Given the description of an element on the screen output the (x, y) to click on. 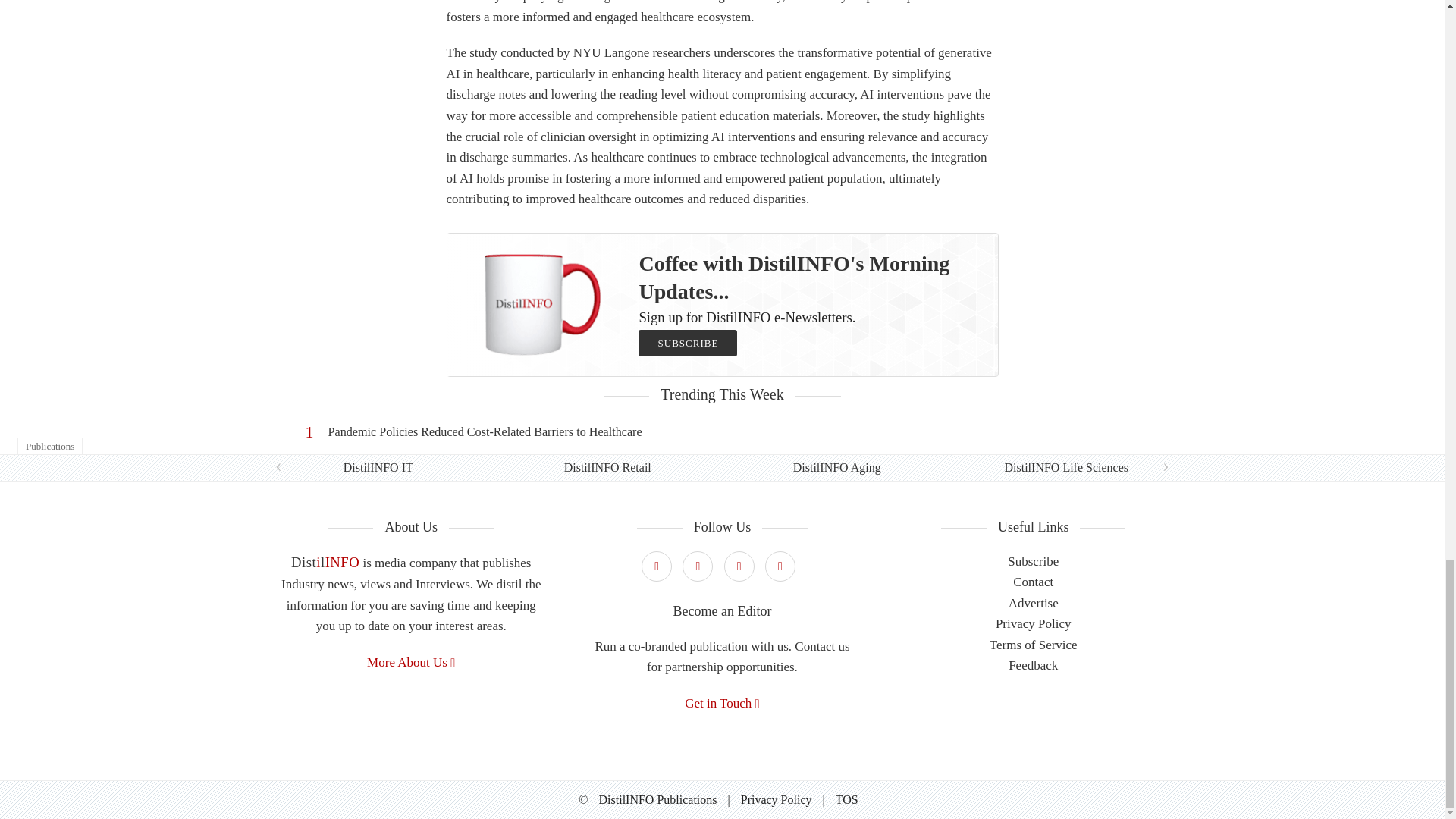
DistilINFO IT (378, 467)
SUBSCRIBE (687, 343)
